Given the description of an element on the screen output the (x, y) to click on. 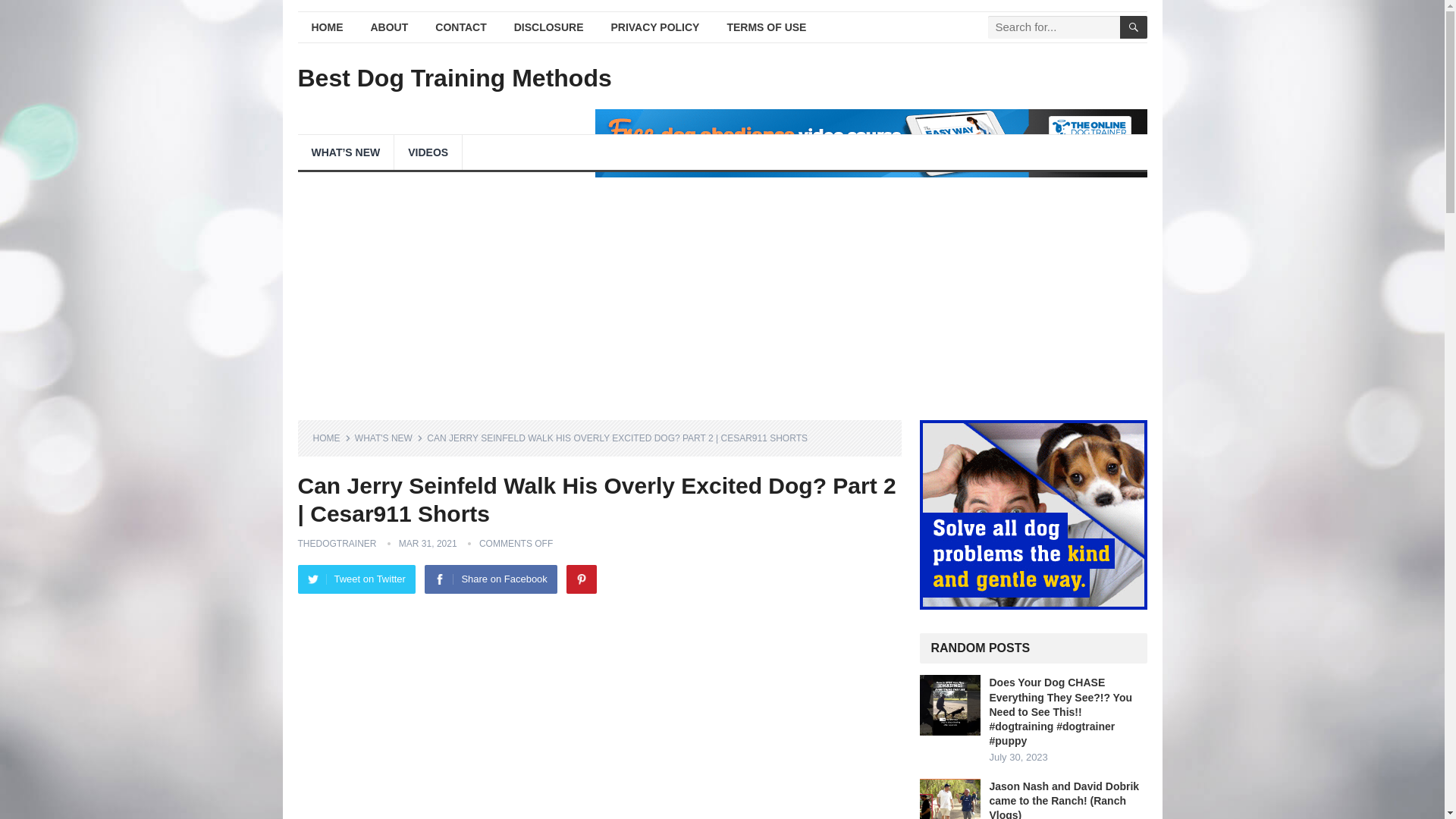
Posts by TheDogTrainer (336, 543)
Tweet on Twitter (355, 579)
TERMS OF USE (766, 27)
THEDOGTRAINER (336, 543)
HOME (326, 27)
PRIVACY POLICY (654, 27)
Best Dog Training Methods (454, 78)
View all posts in What's New (389, 438)
CONTACT (460, 27)
VIDEOS (427, 152)
